Given the description of an element on the screen output the (x, y) to click on. 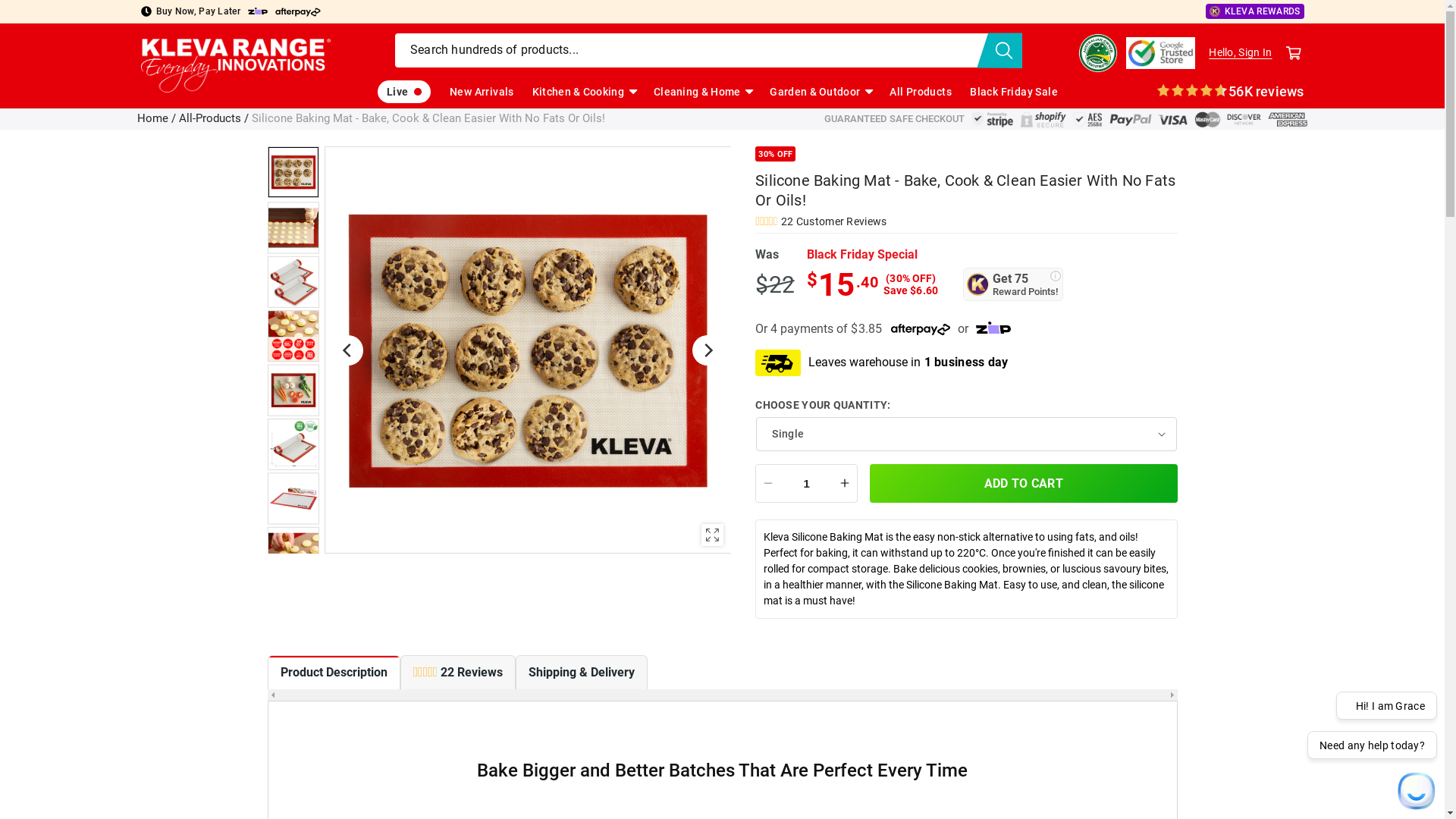
All Products Element type: text (920, 91)
Home Element type: text (152, 118)
Kitchen & Cooking Element type: text (578, 91)
Get 75
Reward Points! Element type: text (1013, 283)
Cart Element type: text (1293, 52)
ADD TO CART Element type: text (1022, 483)
Cleaning & Home Element type: text (696, 91)
Live Element type: text (403, 91)
Garden & Outdoor Element type: text (814, 91)
Black Friday Sale Element type: text (1013, 91)
Hello, Sign In Element type: text (1239, 52)
56K reviews Element type: text (1230, 90)
KLEVA REWARDS Element type: text (1254, 10)
New Arrivals Element type: text (481, 91)
22 Customer Reviews
22 total reviews Element type: text (965, 221)
